Given the description of an element on the screen output the (x, y) to click on. 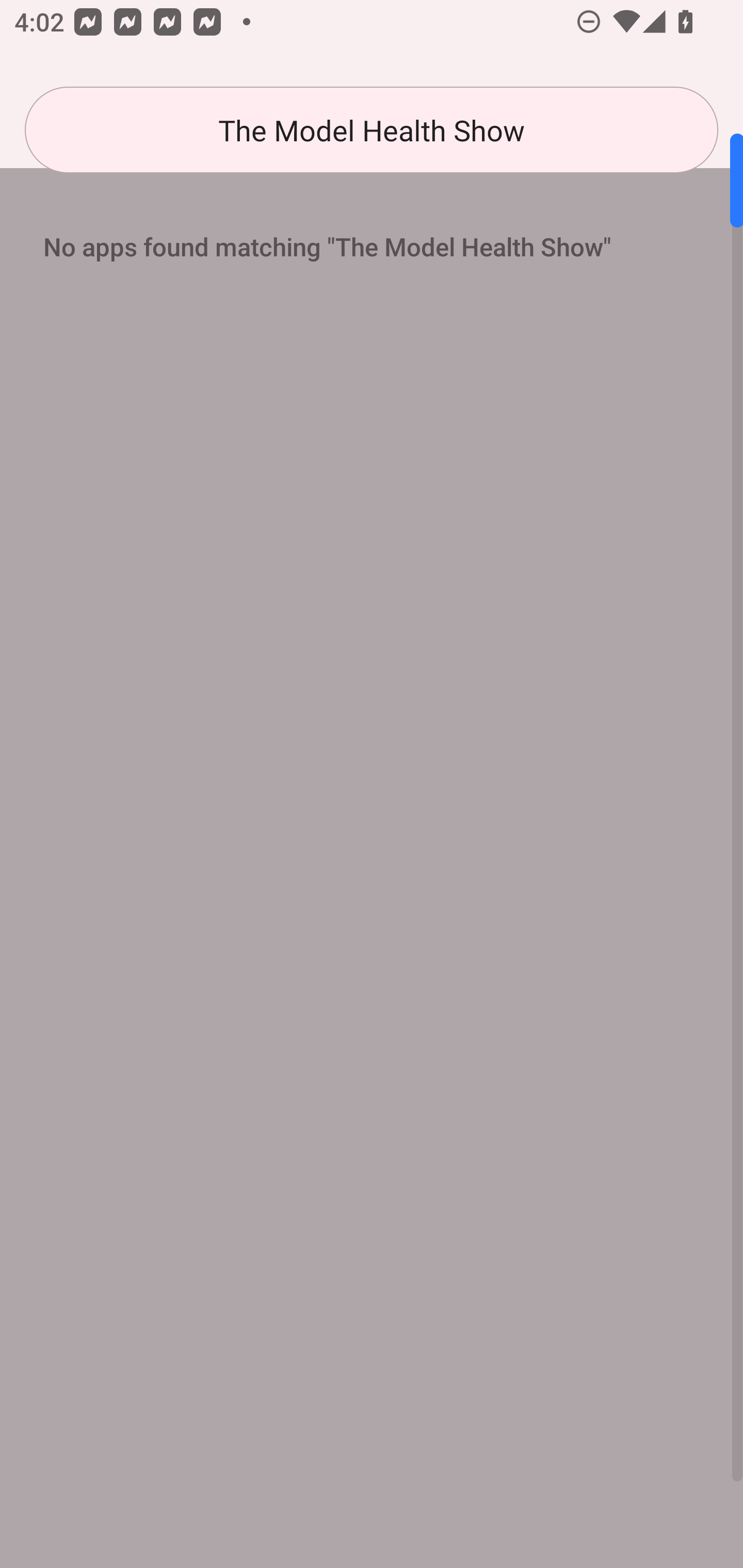
The Model Health Show (371, 130)
